Given the description of an element on the screen output the (x, y) to click on. 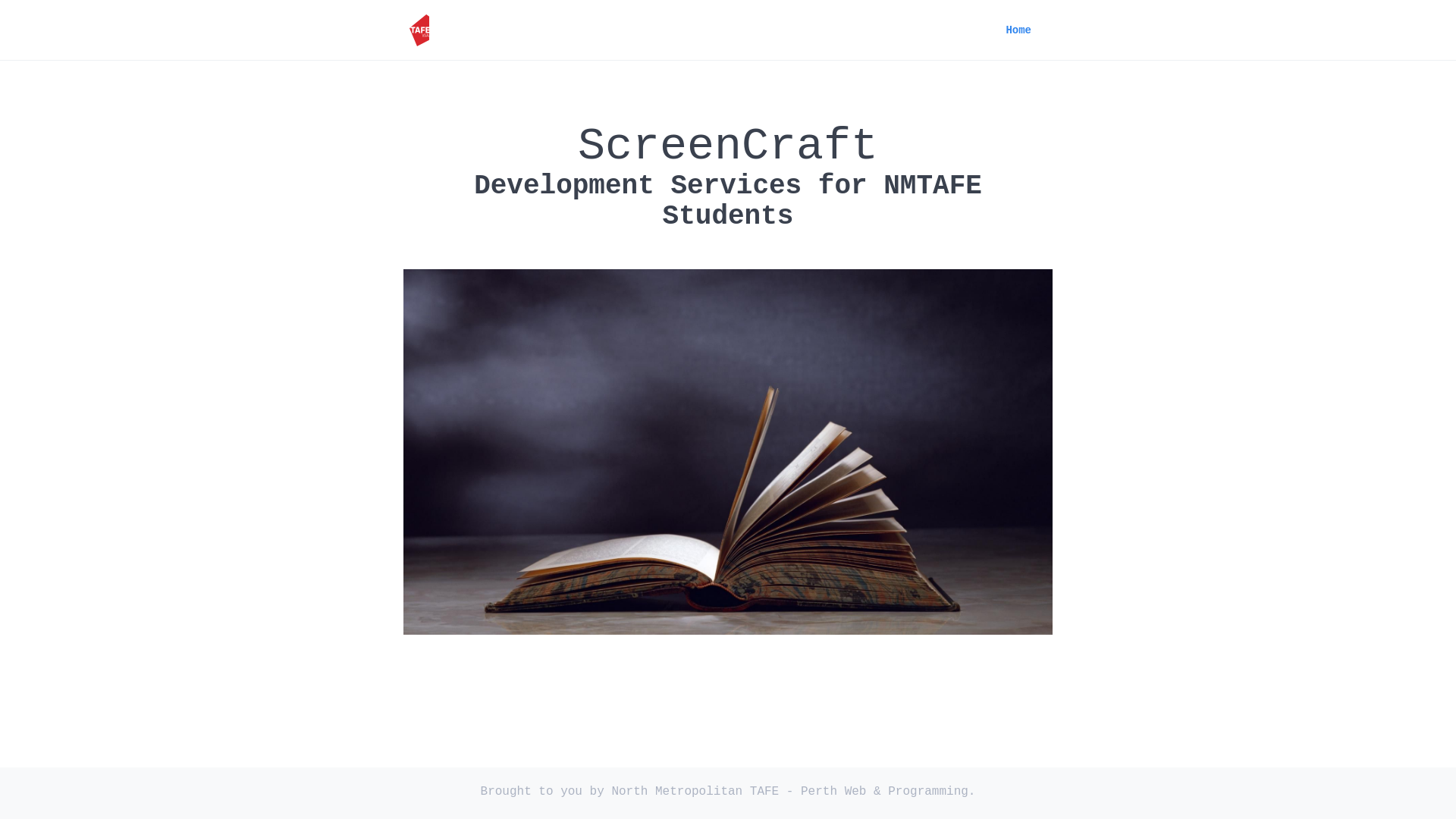
desktop-1920x1080%20%287%29 Element type: hover (727, 451)
Home Element type: text (1018, 29)
